Given the description of an element on the screen output the (x, y) to click on. 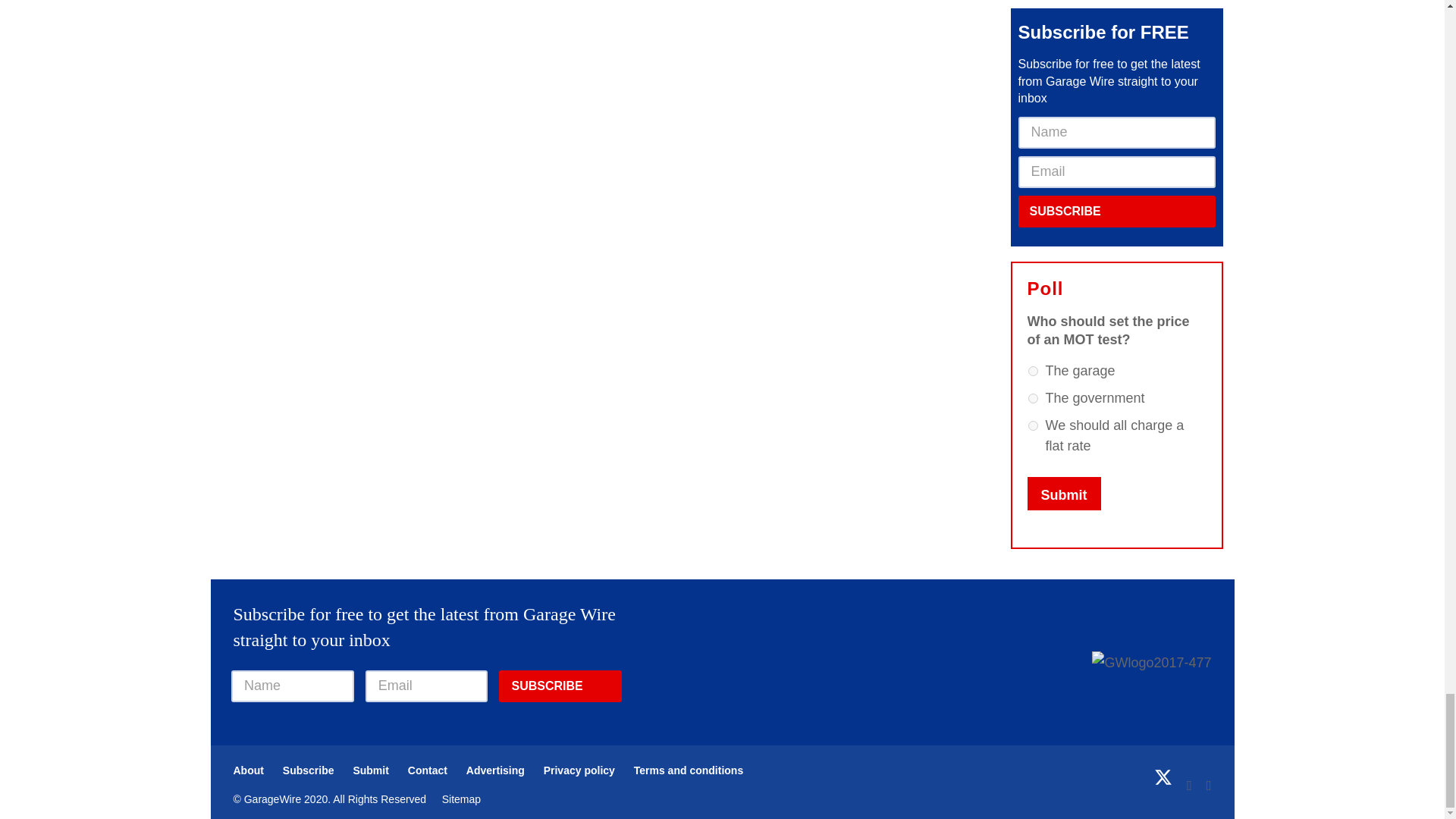
gpoll1312102c8 (1032, 425)
gpoll1b700cb16 (1032, 398)
gpoll12c69b0ed (1032, 370)
Submit (1063, 493)
